Given the description of an element on the screen output the (x, y) to click on. 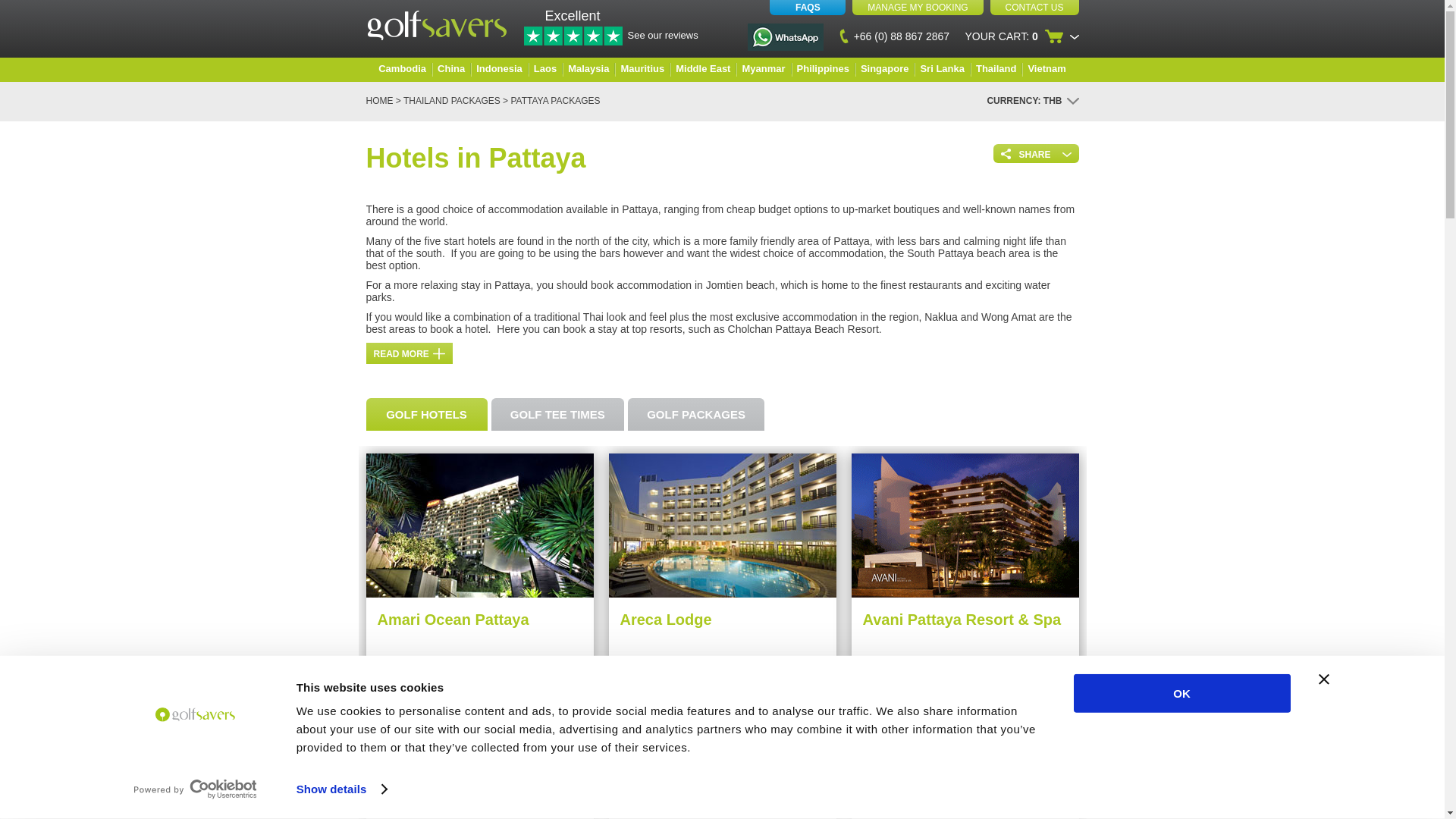
4.8 Stars: Excellent (571, 35)
Show details (341, 789)
